Given the description of an element on the screen output the (x, y) to click on. 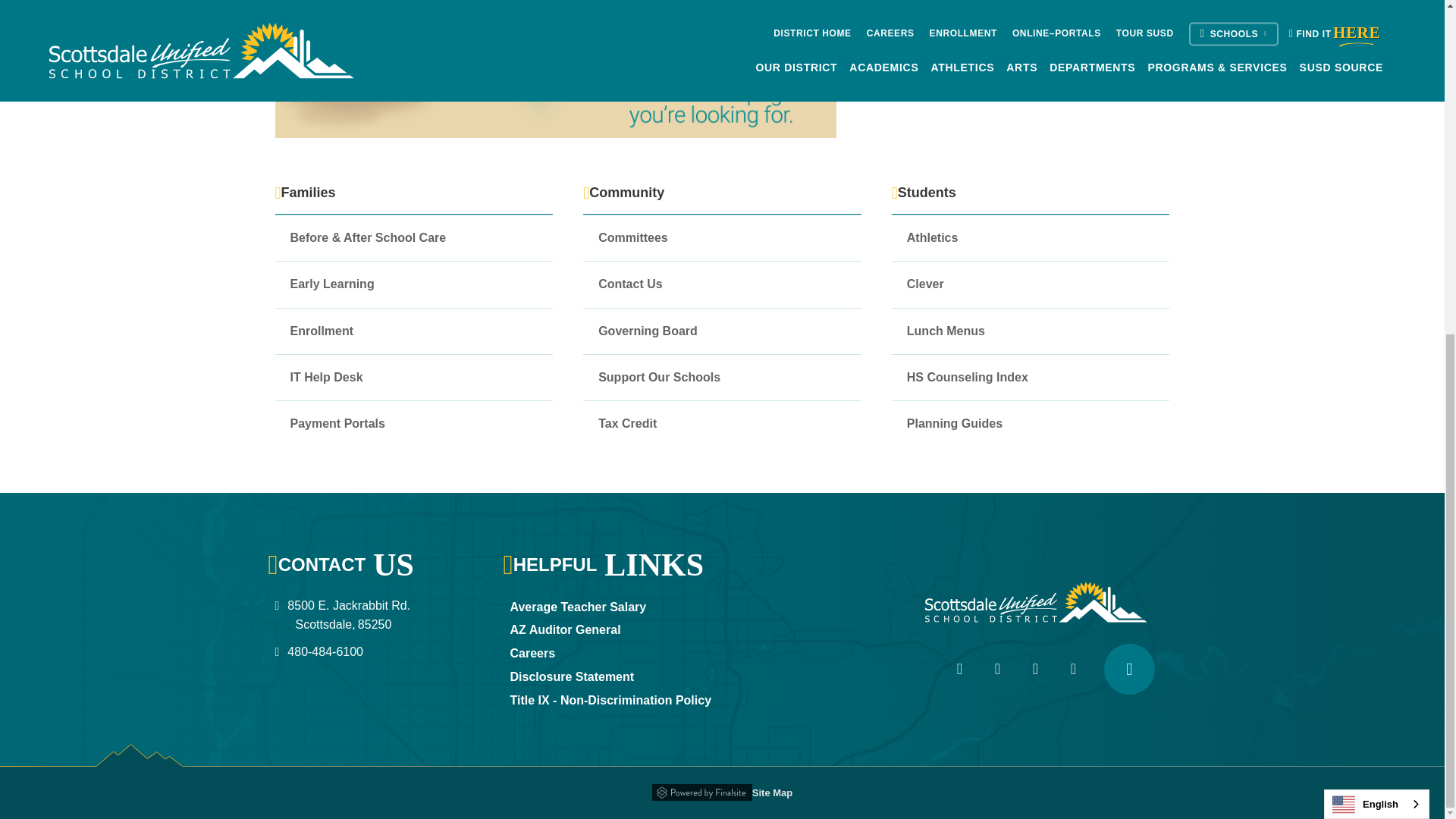
Scroll to Top (1128, 668)
Powered by Finalsite opens in a new window (702, 789)
